Given the description of an element on the screen output the (x, y) to click on. 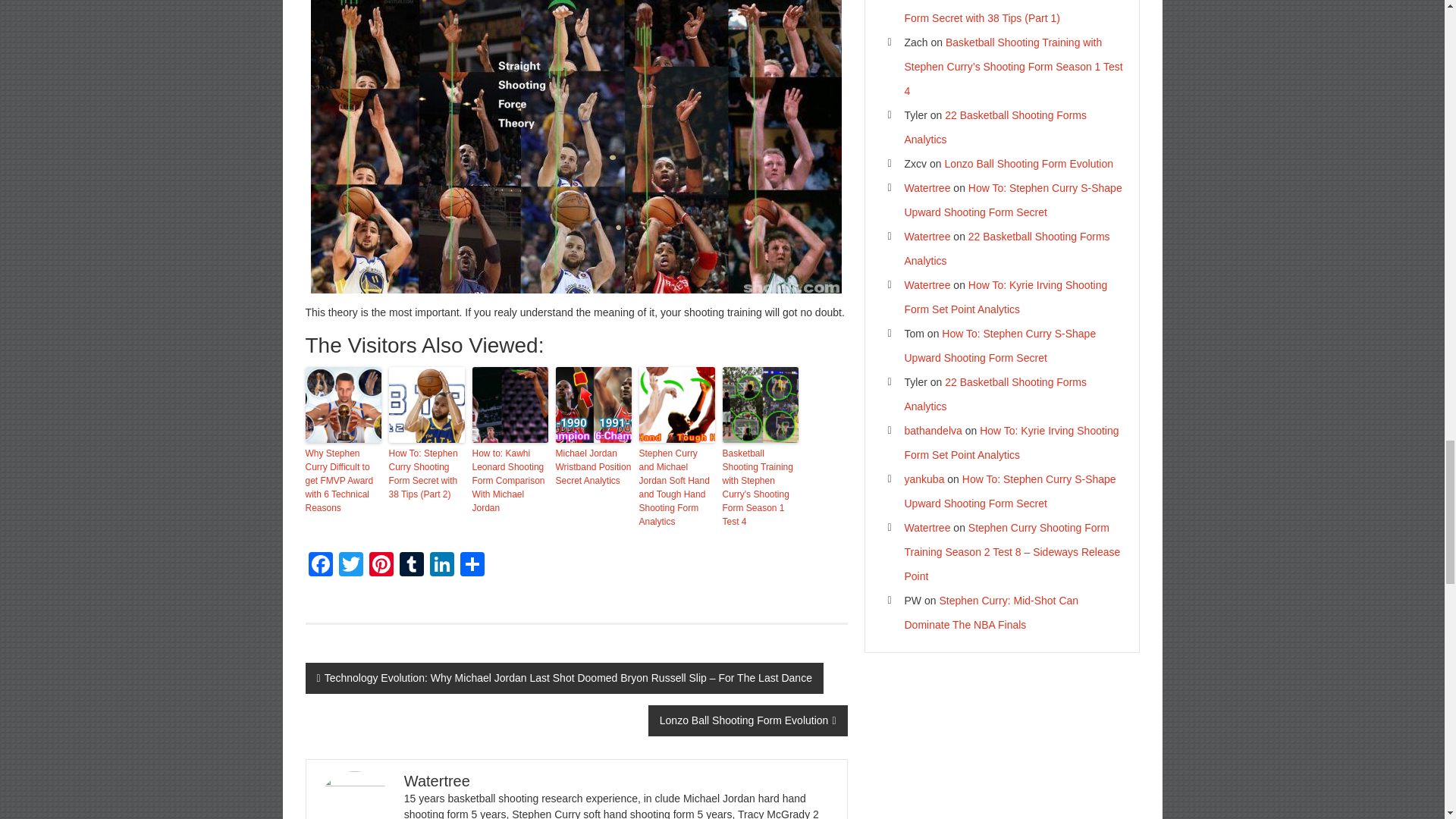
Twitter (349, 565)
Tumblr (411, 565)
Facebook (319, 565)
Pinterest (380, 565)
LinkedIn (441, 565)
